Given the description of an element on the screen output the (x, y) to click on. 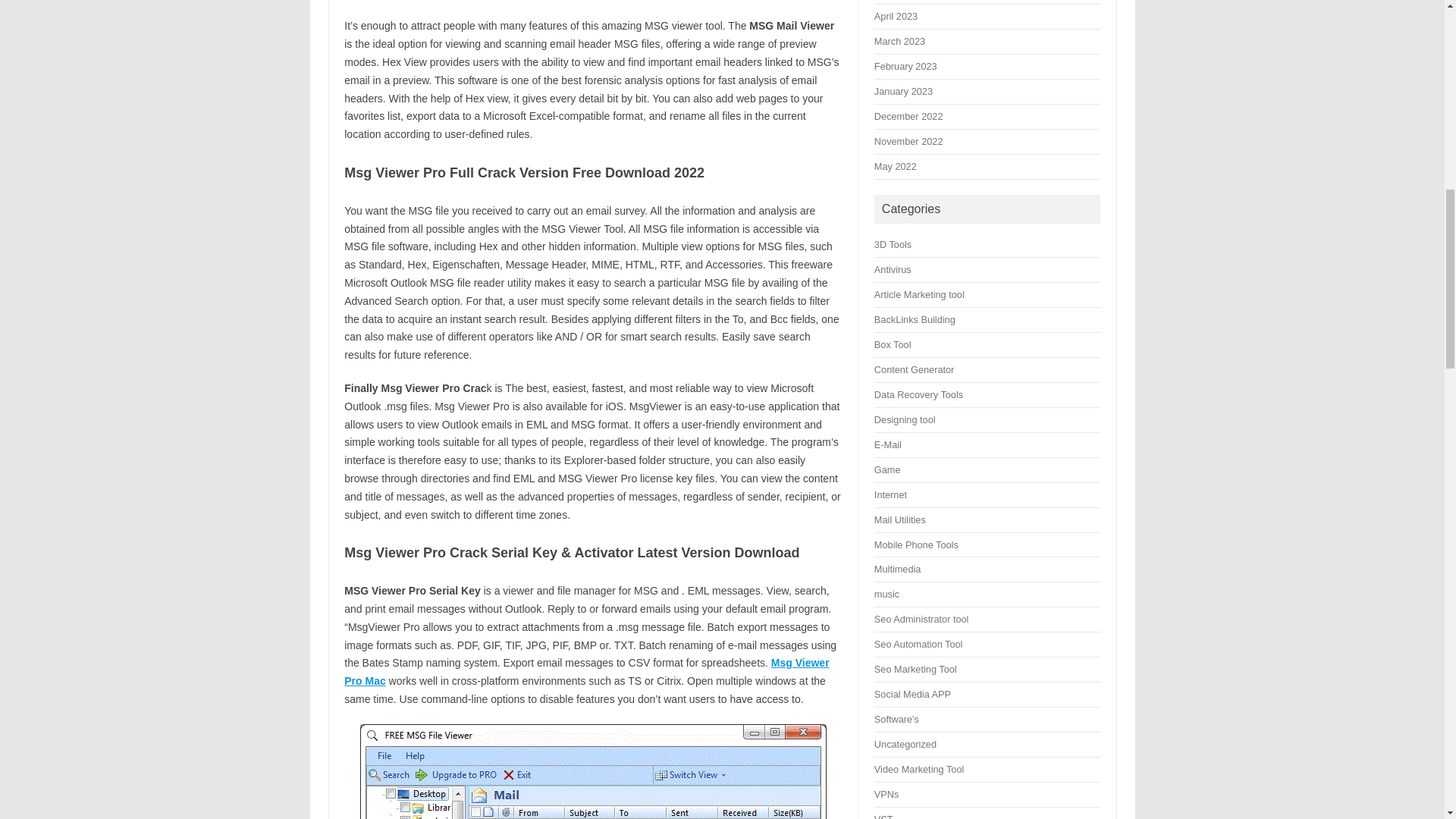
Msg Viewer Pro Mac (585, 671)
